Given the description of an element on the screen output the (x, y) to click on. 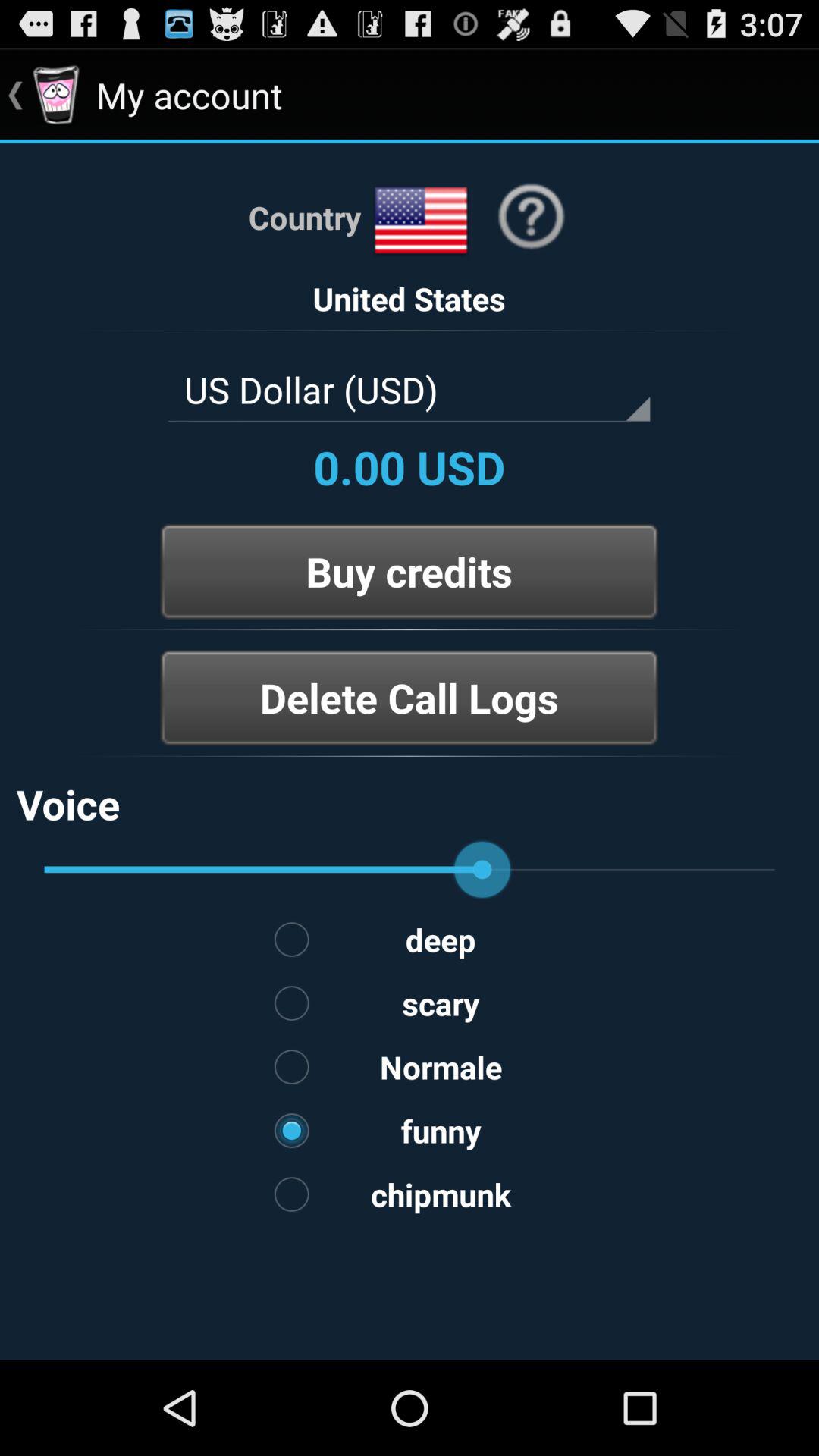
select country (420, 221)
